Given the description of an element on the screen output the (x, y) to click on. 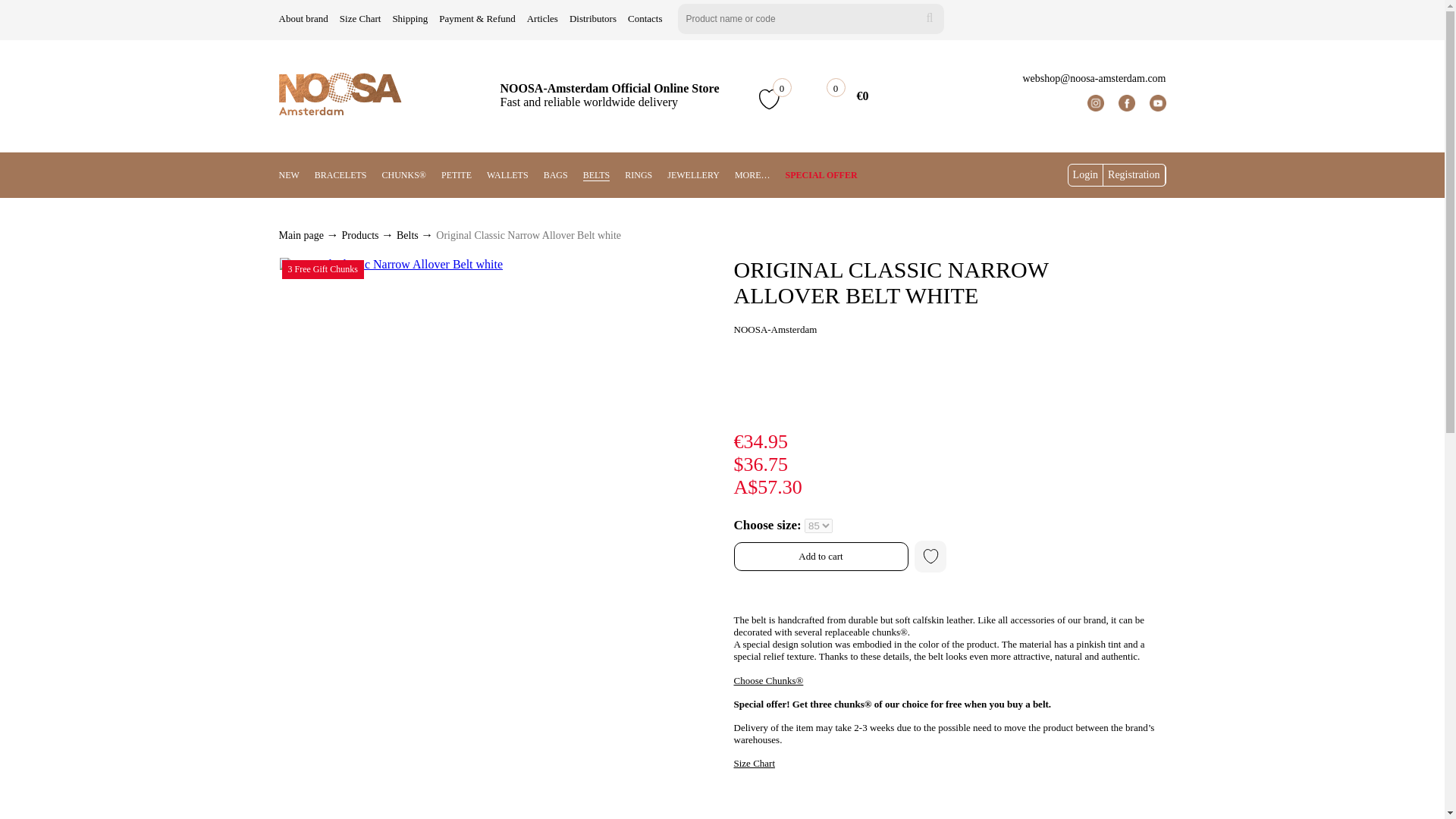
Login (1085, 174)
Distributors (592, 18)
Main page (302, 235)
JEWELLERY (692, 174)
Shipping (409, 18)
Belts (408, 235)
Products (360, 235)
PETITE (456, 174)
NEW (289, 174)
0 (822, 98)
